Given the description of an element on the screen output the (x, y) to click on. 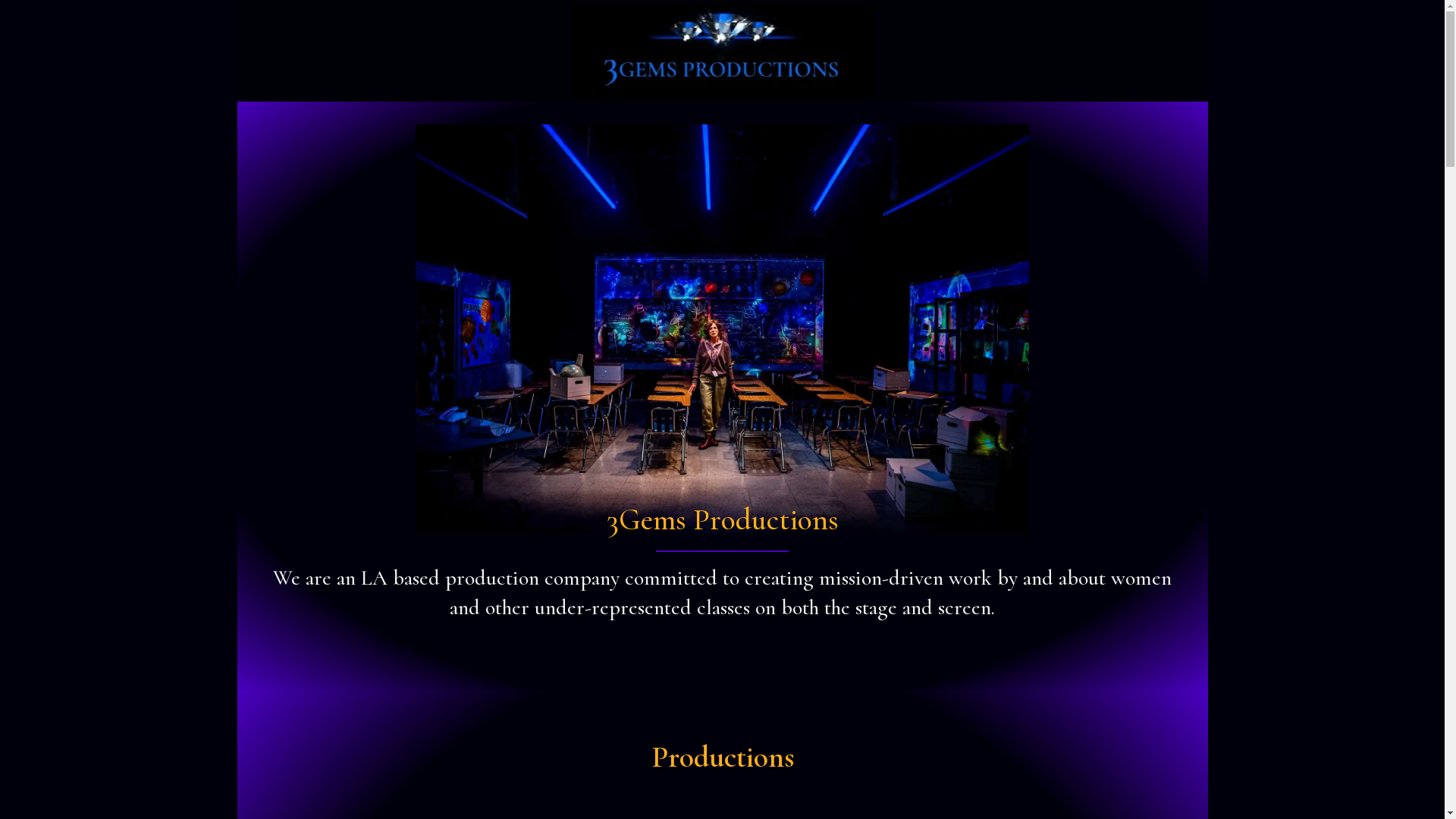
3Gems Crop 1920x596 Element type: hover (721, 50)
